Given the description of an element on the screen output the (x, y) to click on. 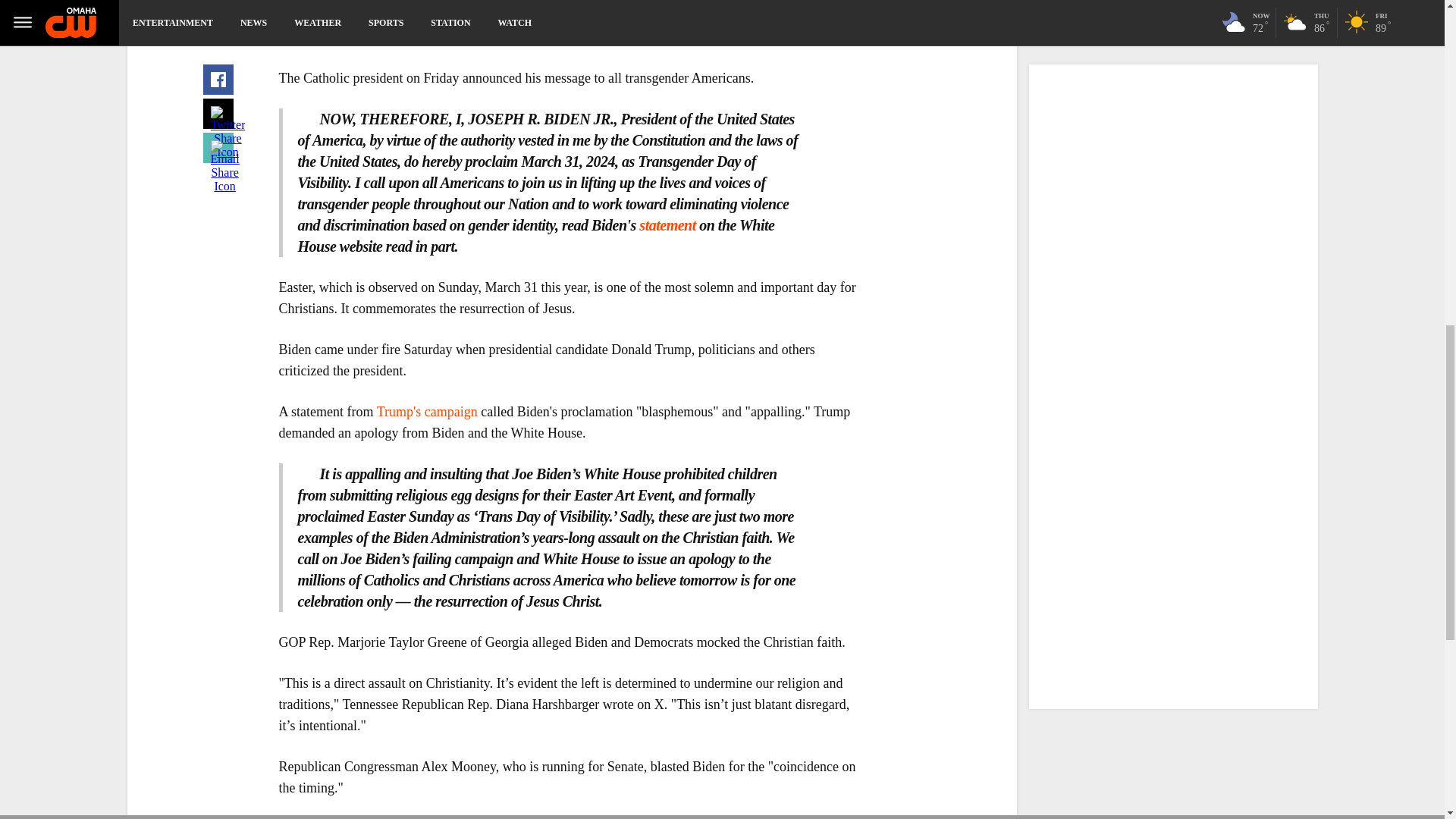
statement (668, 225)
Twitter (217, 7)
Trump's campaign (427, 411)
Email (217, 34)
